Given the description of an element on the screen output the (x, y) to click on. 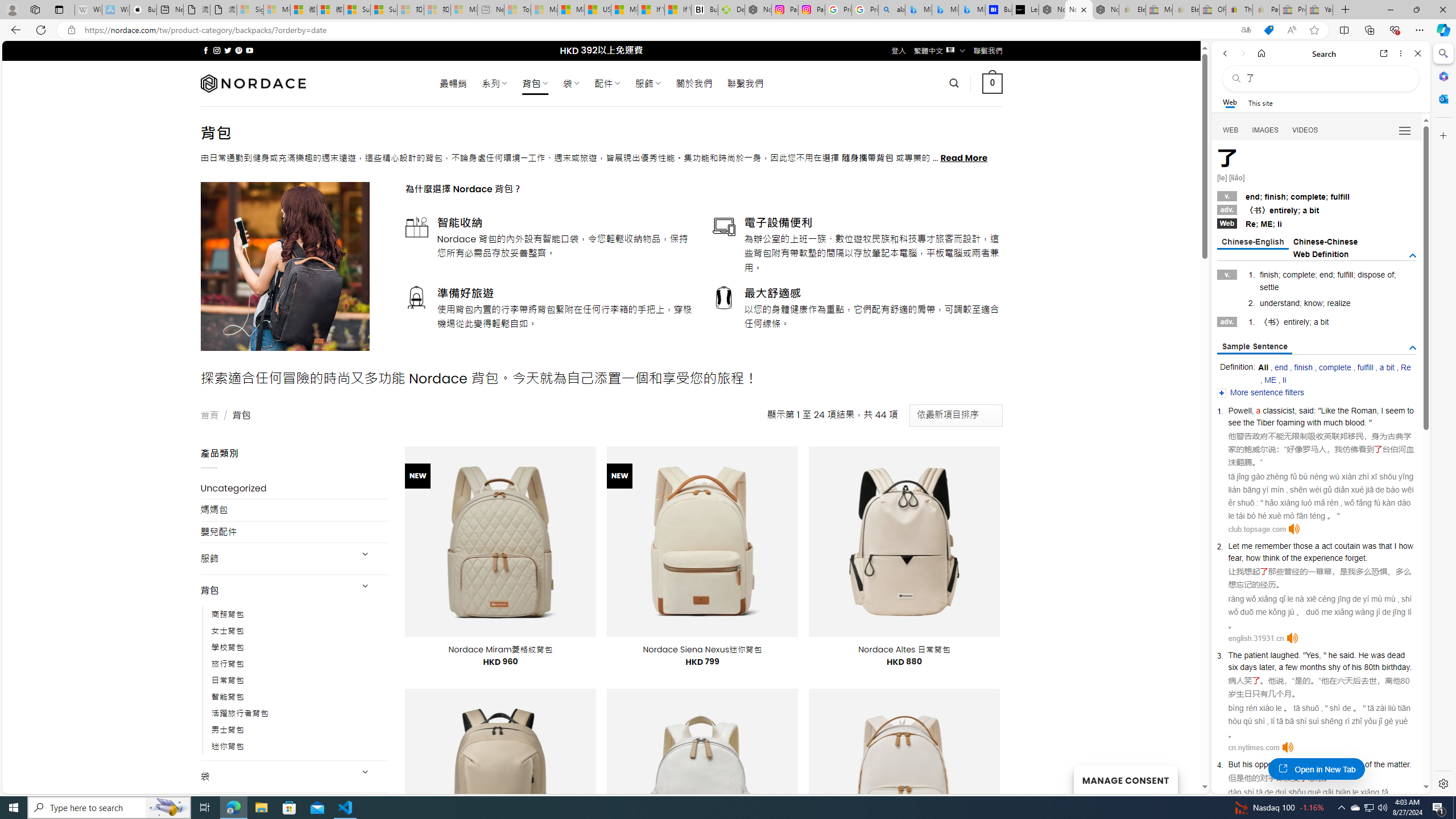
li (1284, 379)
experience (1323, 557)
Web Definition (1321, 254)
few (1290, 666)
, (1275, 666)
finish (1303, 367)
Descarga Driver Updater (731, 9)
AutomationID: tgdef_sen (1412, 347)
